Given the description of an element on the screen output the (x, y) to click on. 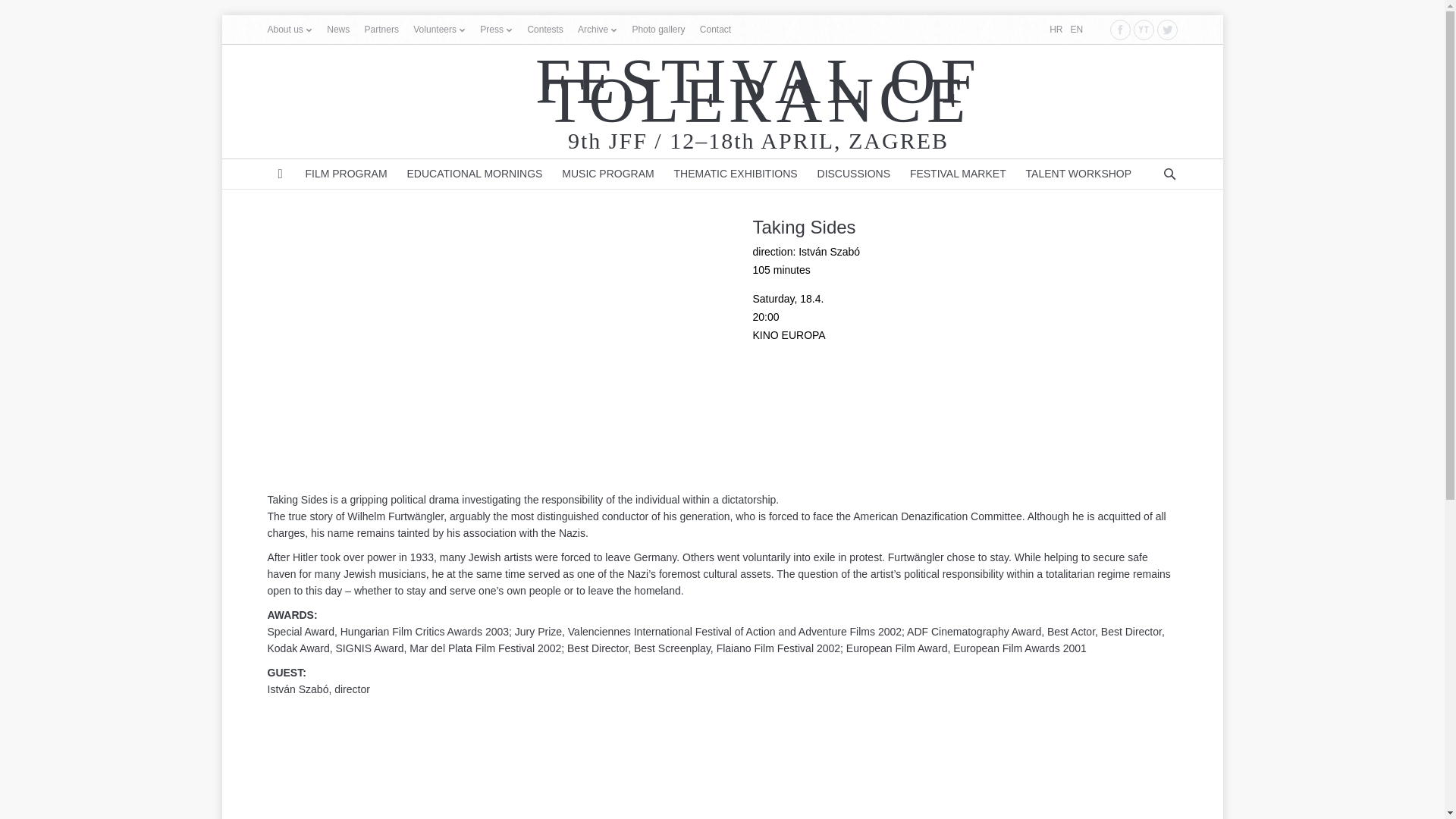
About us (284, 29)
News (337, 29)
English (1076, 29)
Facebook (1120, 29)
Twitter (1167, 29)
Archive (593, 29)
Hrvatski (1055, 29)
Volunteers (435, 29)
Contact (715, 29)
YouTube (1142, 29)
EN (1076, 29)
Press (491, 29)
Partners (381, 29)
Photo gallery (657, 29)
Contests (544, 29)
